Given the description of an element on the screen output the (x, y) to click on. 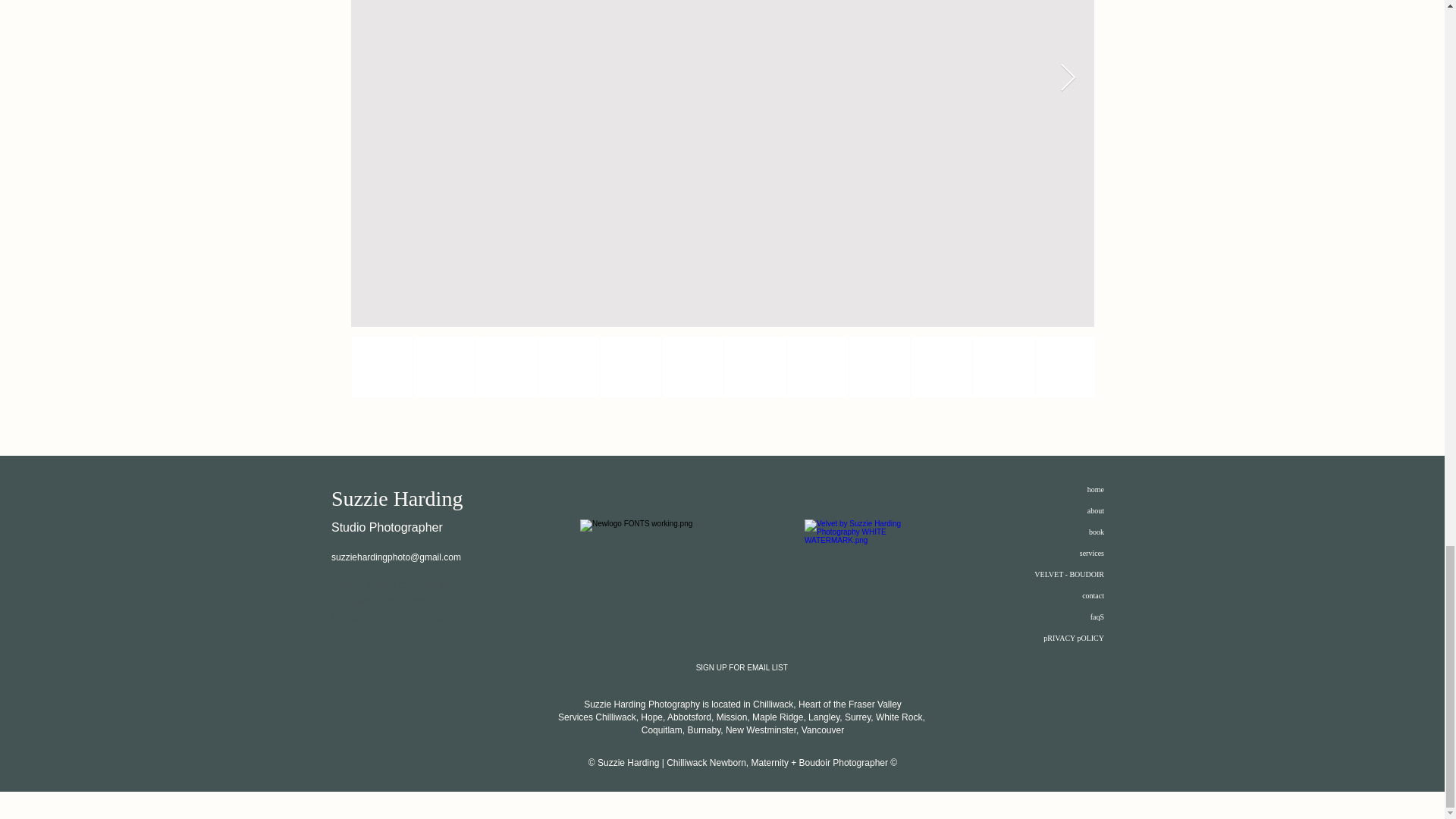
home (1095, 489)
about (1095, 510)
SIGN UP FOR EMAIL LIST (741, 668)
contact (1092, 595)
services (1091, 552)
pRIVACY pOLICY (1073, 637)
faqS (1096, 616)
book (1096, 531)
VELVET - BOUDOIR (1068, 574)
